Given the description of an element on the screen output the (x, y) to click on. 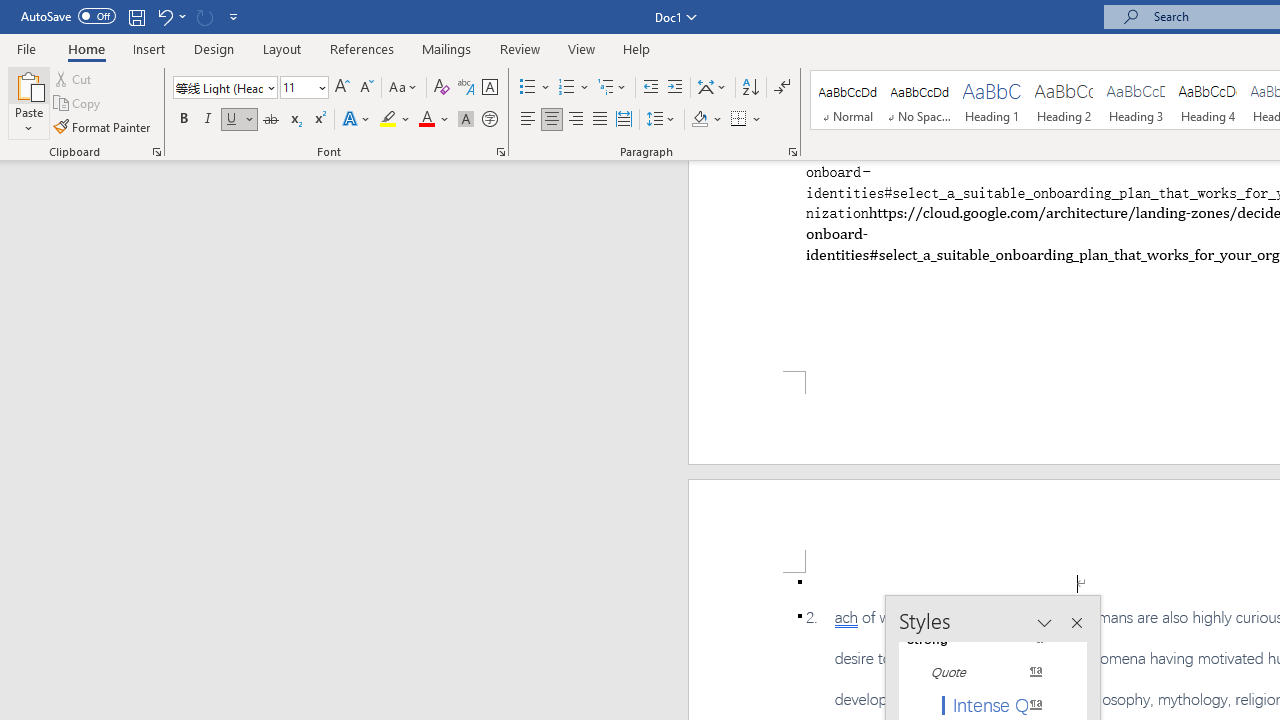
Heading 4 (1208, 100)
Undo Paste (164, 15)
